Given the description of an element on the screen output the (x, y) to click on. 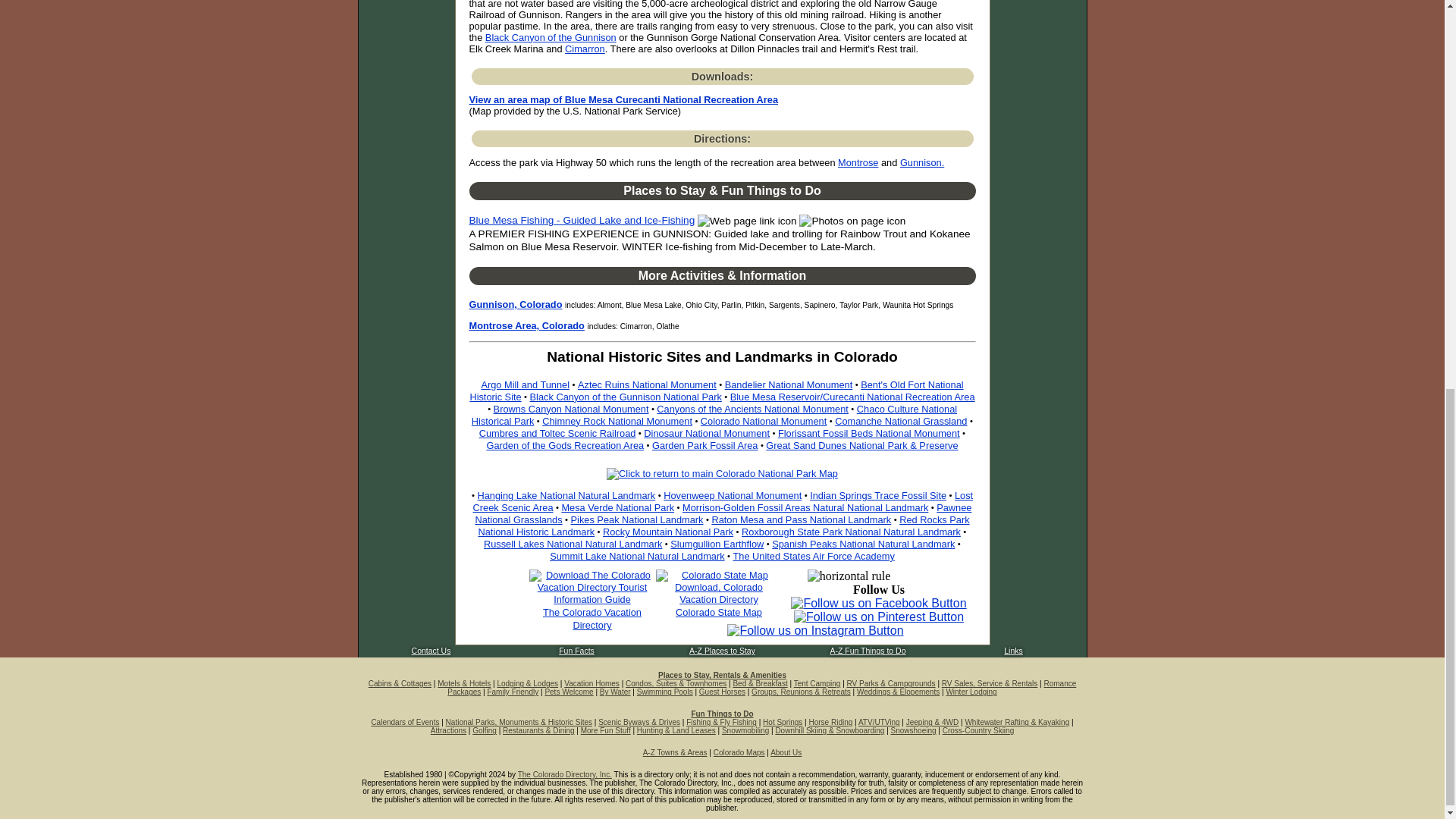
Browns Canyon National Monument (571, 408)
Chimney Rock National Monument (617, 420)
Blue Mesa Fishing - Guided Lake and Ice-Fishing (581, 220)
Chaco Culture National Historical Park (713, 414)
Bent's Old Fort National Historic Site (715, 390)
Argo Mill and Tunnel (524, 384)
Bandelier National Monument (789, 384)
Download The Colorado Vacation Directory (592, 618)
Aztec Ruins National Monument (647, 384)
Gunnison, Colorado (515, 304)
